Given the description of an element on the screen output the (x, y) to click on. 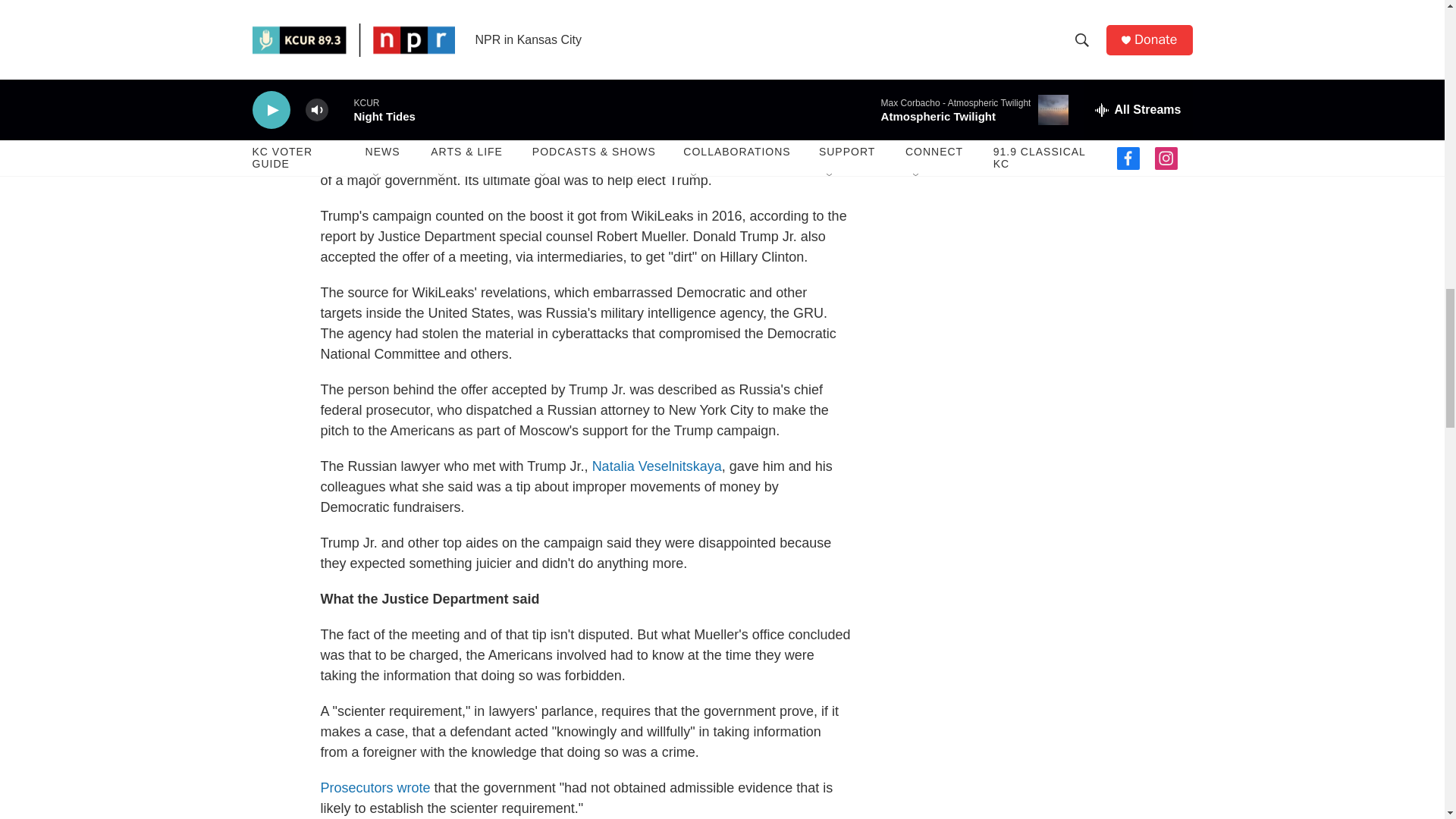
3rd party ad content (1063, 90)
